Given the description of an element on the screen output the (x, y) to click on. 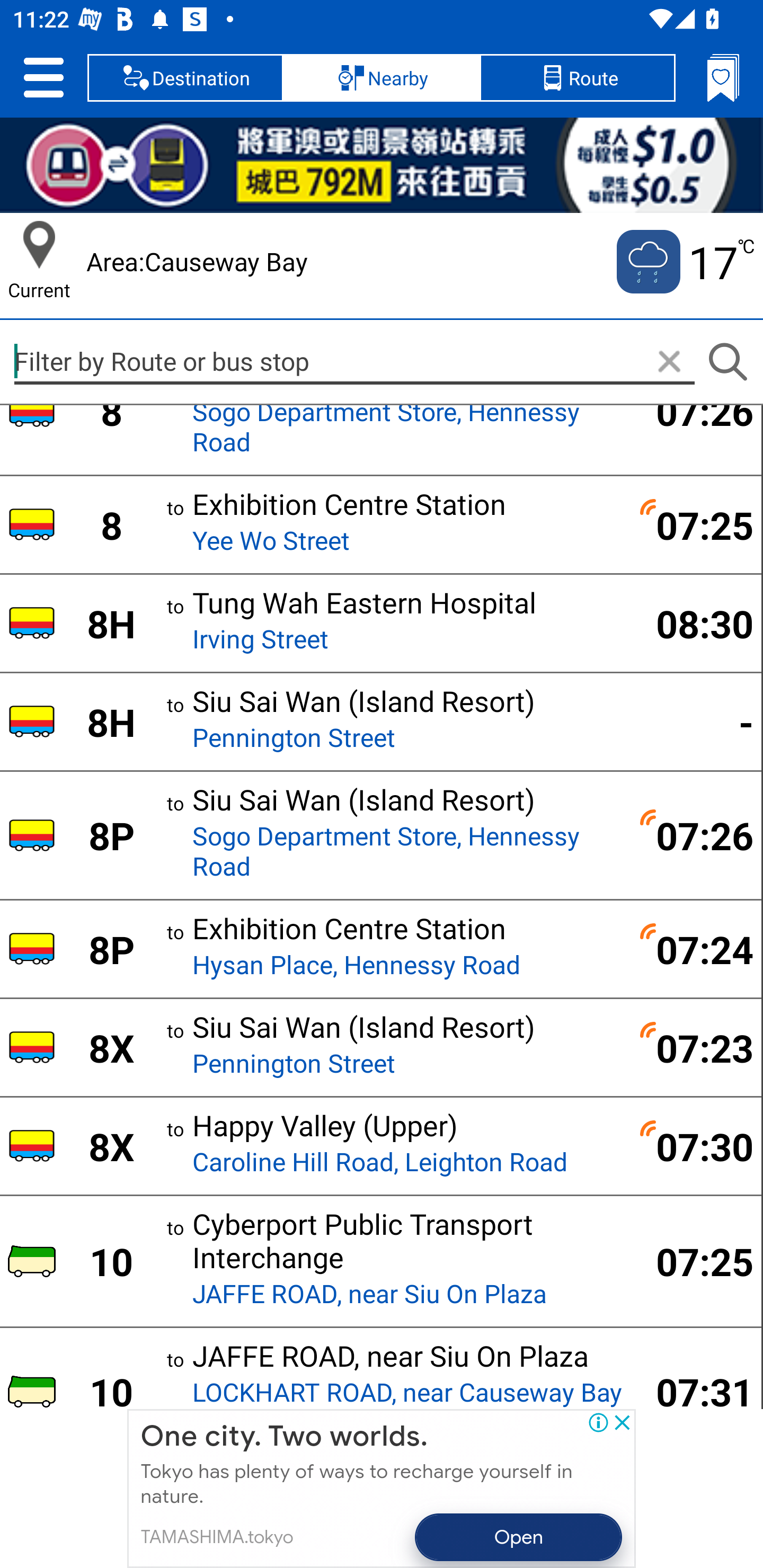
Destination (185, 77)
Nearby, selected (381, 77)
Route (577, 77)
Bookmarks (723, 77)
Setting (43, 77)
792M BRI (381, 165)
Current Location (38, 244)
Current temputure is  17  no 17 ℃ (684, 261)
Filter by Route or bus stop (354, 361)
Search (727, 362)
Clear (669, 361)
07:26 (693, 419)
07:25 (693, 524)
08:30 (693, 623)
- (693, 721)
07:26 (693, 834)
07:24 (693, 949)
07:23 (693, 1047)
07:30 (693, 1146)
07:25 (693, 1261)
07:31 (693, 1387)
One city. Two worlds. (283, 1437)
Open (519, 1537)
TAMASHIMA.tokyo (216, 1537)
